Given the description of an element on the screen output the (x, y) to click on. 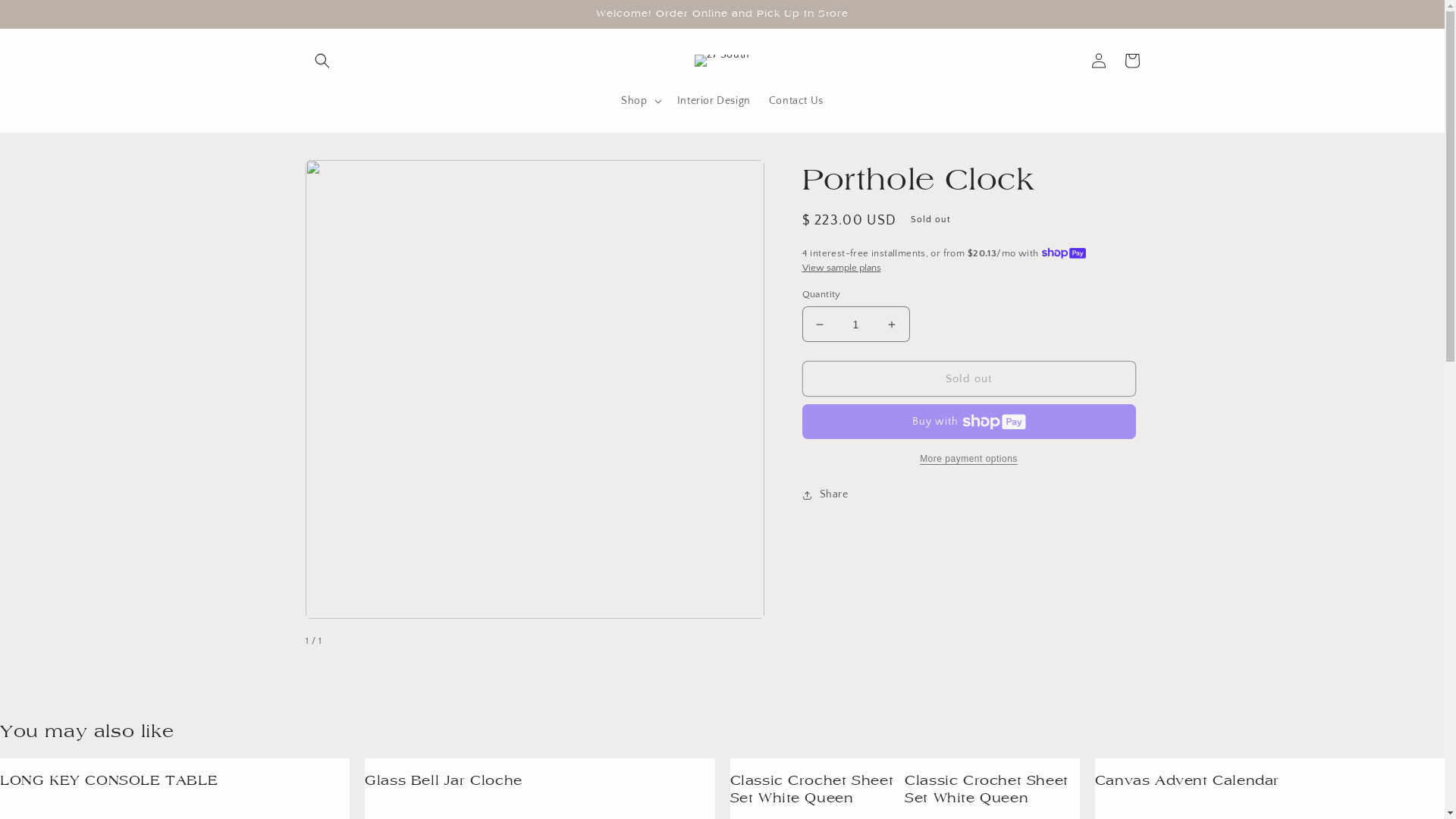
More payment options Element type: text (968, 458)
Increase quantity for Porthole Clock Element type: text (892, 324)
Canvas Advent Calendar Element type: text (1187, 780)
Classic Crochet Sheet Set White Queen Element type: text (991, 789)
Contact Us Element type: text (795, 100)
Log in Element type: text (1097, 60)
Cart Element type: text (1131, 60)
Classic Crochet Sheet Set White Queen Element type: text (816, 789)
https://27-south.com/products/porthole-clock Element type: text (892, 544)
Skip to product information Element type: text (350, 176)
Interior Design Element type: text (713, 100)
Sold out Element type: text (968, 378)
LONG KEY CONSOLE TABLE Element type: text (108, 780)
Glass Bell Jar Cloche Element type: text (443, 780)
Decrease quantity for Porthole Clock Element type: text (819, 324)
